Given the description of an element on the screen output the (x, y) to click on. 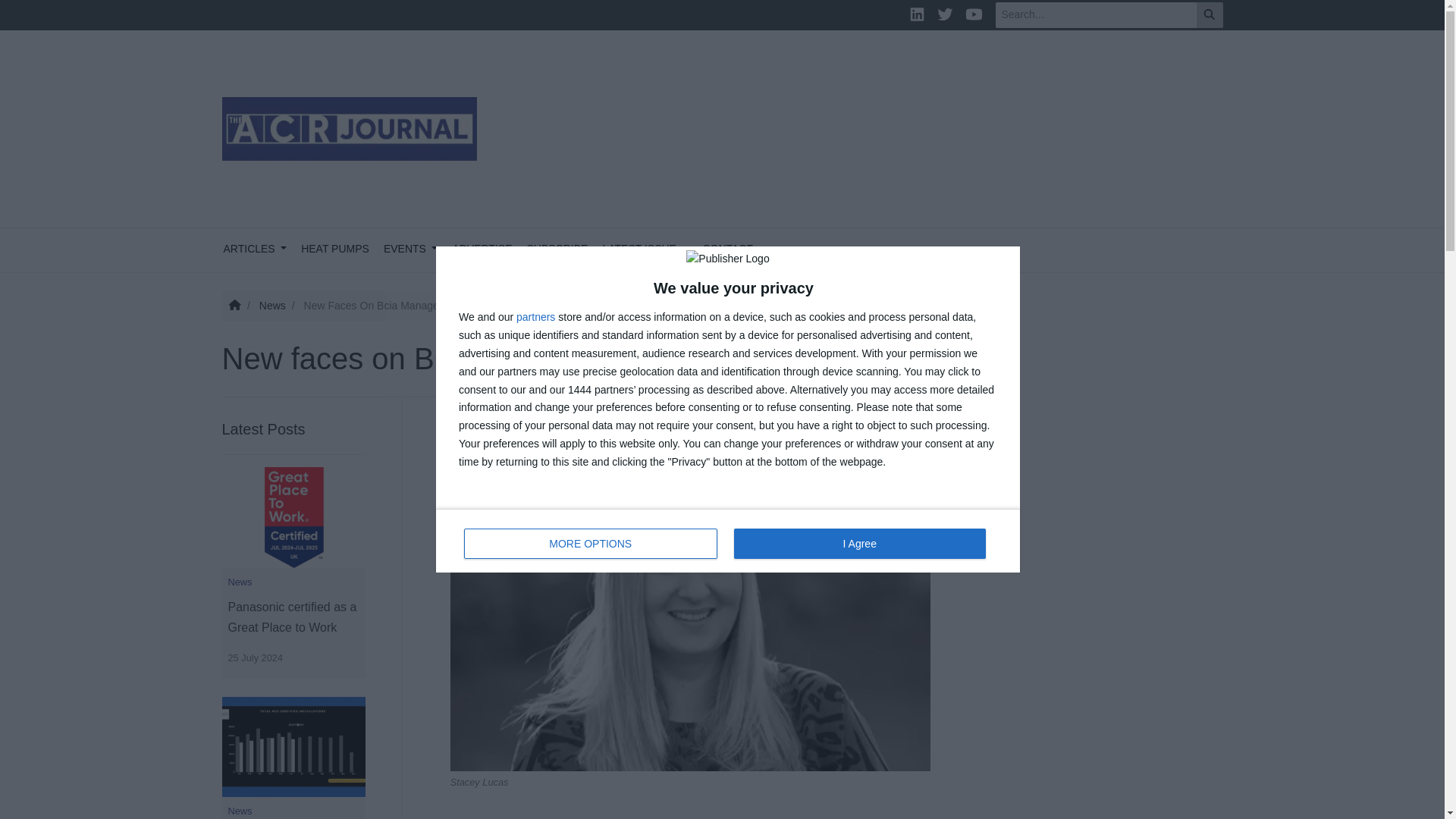
LATEST ISSUE (643, 249)
EVENTS (410, 249)
ADVERTISE (481, 249)
HEAT PUMPS (335, 249)
MORE OPTIONS (727, 540)
I Agree (590, 543)
partners (859, 543)
ARTICLES (535, 317)
SUBSCRIBE (254, 249)
